Given the description of an element on the screen output the (x, y) to click on. 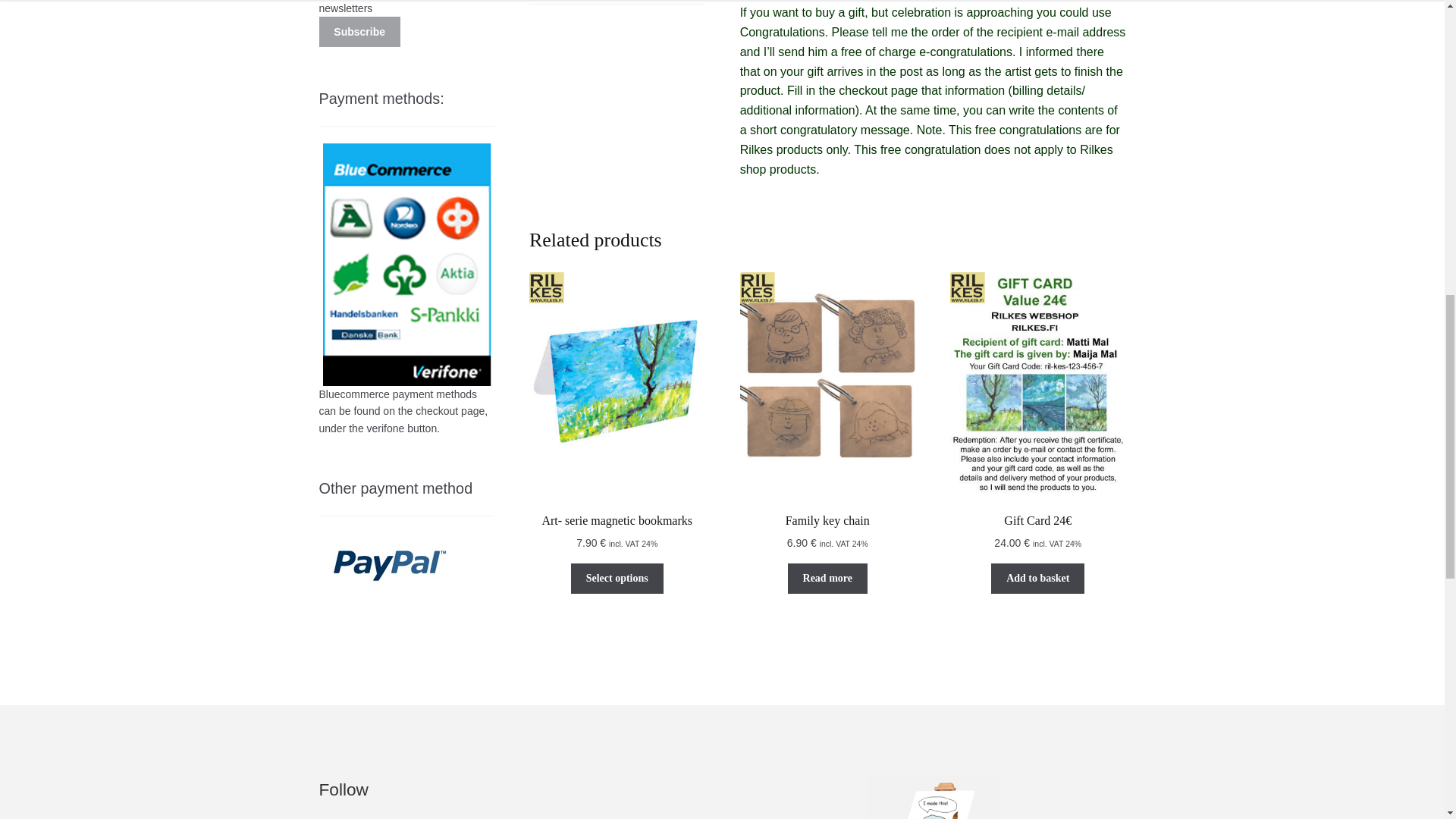
Subscribe (359, 31)
